Given the description of an element on the screen output the (x, y) to click on. 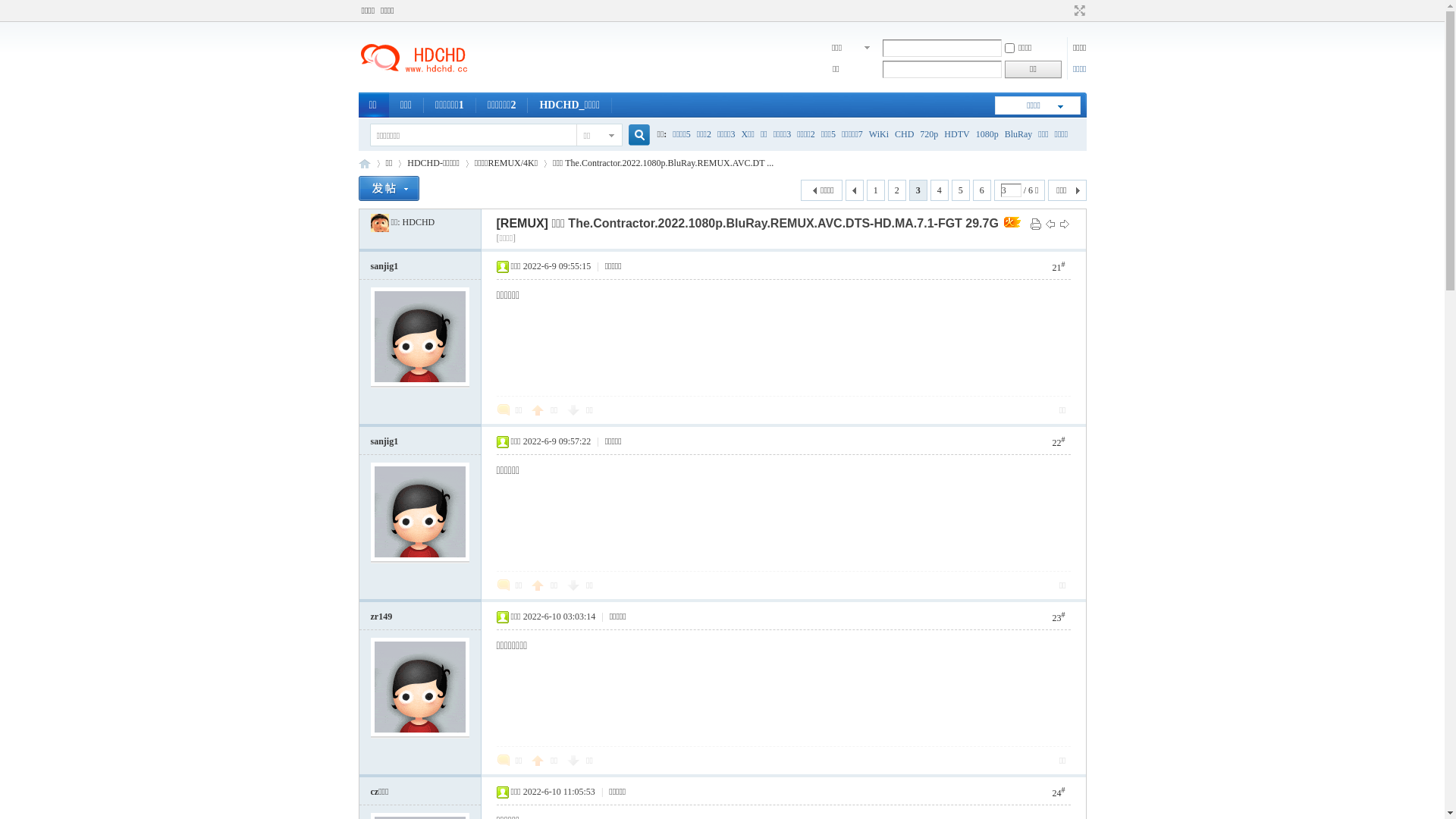
HDCHD Element type: hover (379, 221)
sanjig1 Element type: text (384, 265)
22# Element type: text (1058, 441)
sanjig1 Element type: text (384, 441)
BluRay Element type: text (1018, 134)
HDTV Element type: text (956, 134)
720p Element type: text (928, 134)
24# Element type: text (1058, 791)
1080p Element type: text (986, 134)
[REMUX] Element type: text (521, 222)
CHD Element type: text (903, 134)
5 Element type: text (960, 189)
4 Element type: text (939, 189)
zr149 Element type: text (381, 616)
23# Element type: text (1058, 616)
2 Element type: text (897, 189)
6 Element type: text (981, 189)
21# Element type: text (1058, 266)
   Element type: text (854, 189)
WiKi Element type: text (878, 134)
true Element type: text (632, 135)
1 Element type: text (875, 189)
HDCHD Element type: text (418, 221)
